Given the description of an element on the screen output the (x, y) to click on. 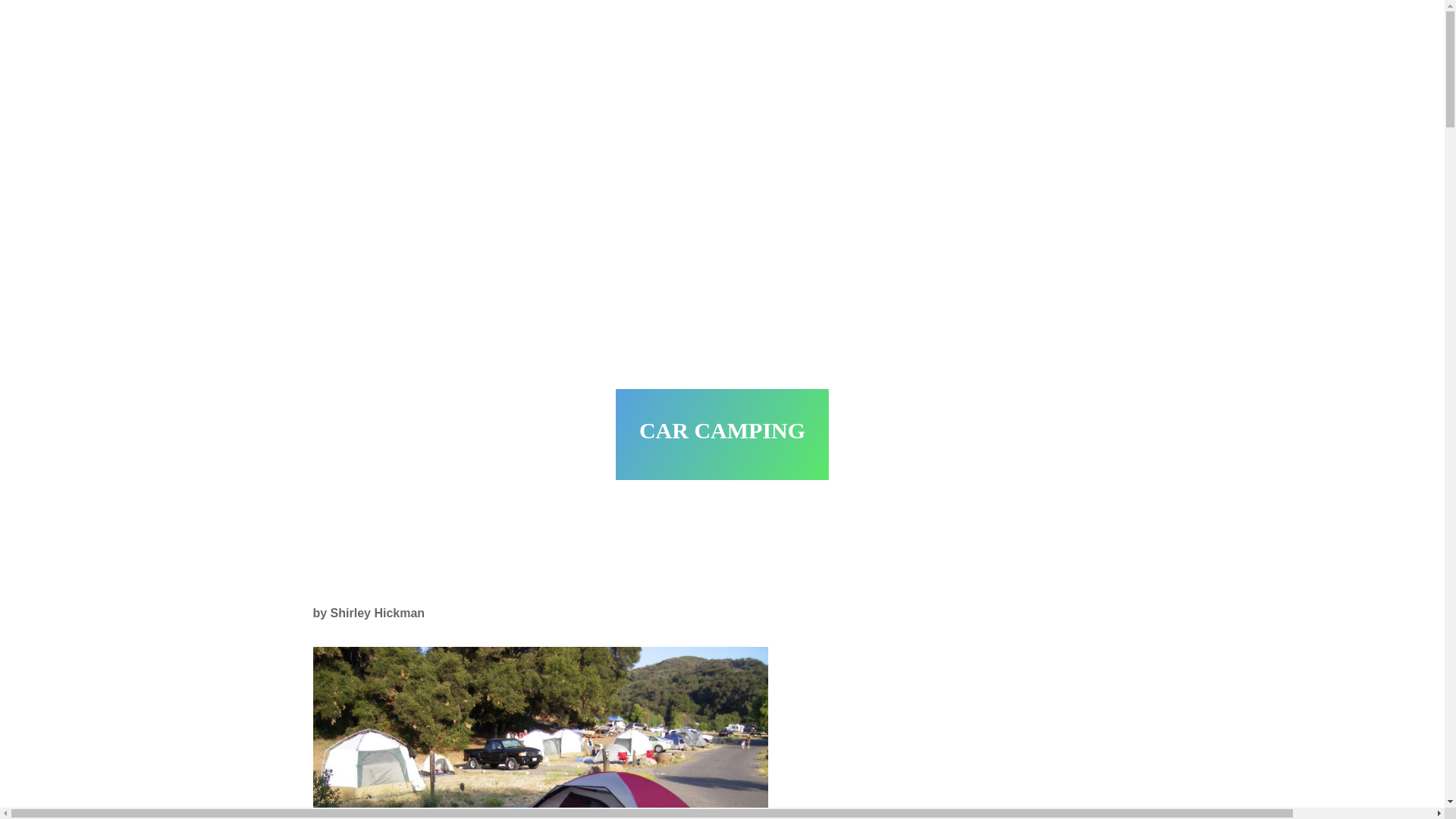
IMGP2007 (540, 733)
BLOG (697, 157)
Forms (1126, 157)
Home (312, 157)
DONATING (563, 157)
ABOUT ICO (375, 157)
Leaders (946, 157)
GALLERY (639, 157)
VOLUNTEERING (470, 157)
